Given the description of an element on the screen output the (x, y) to click on. 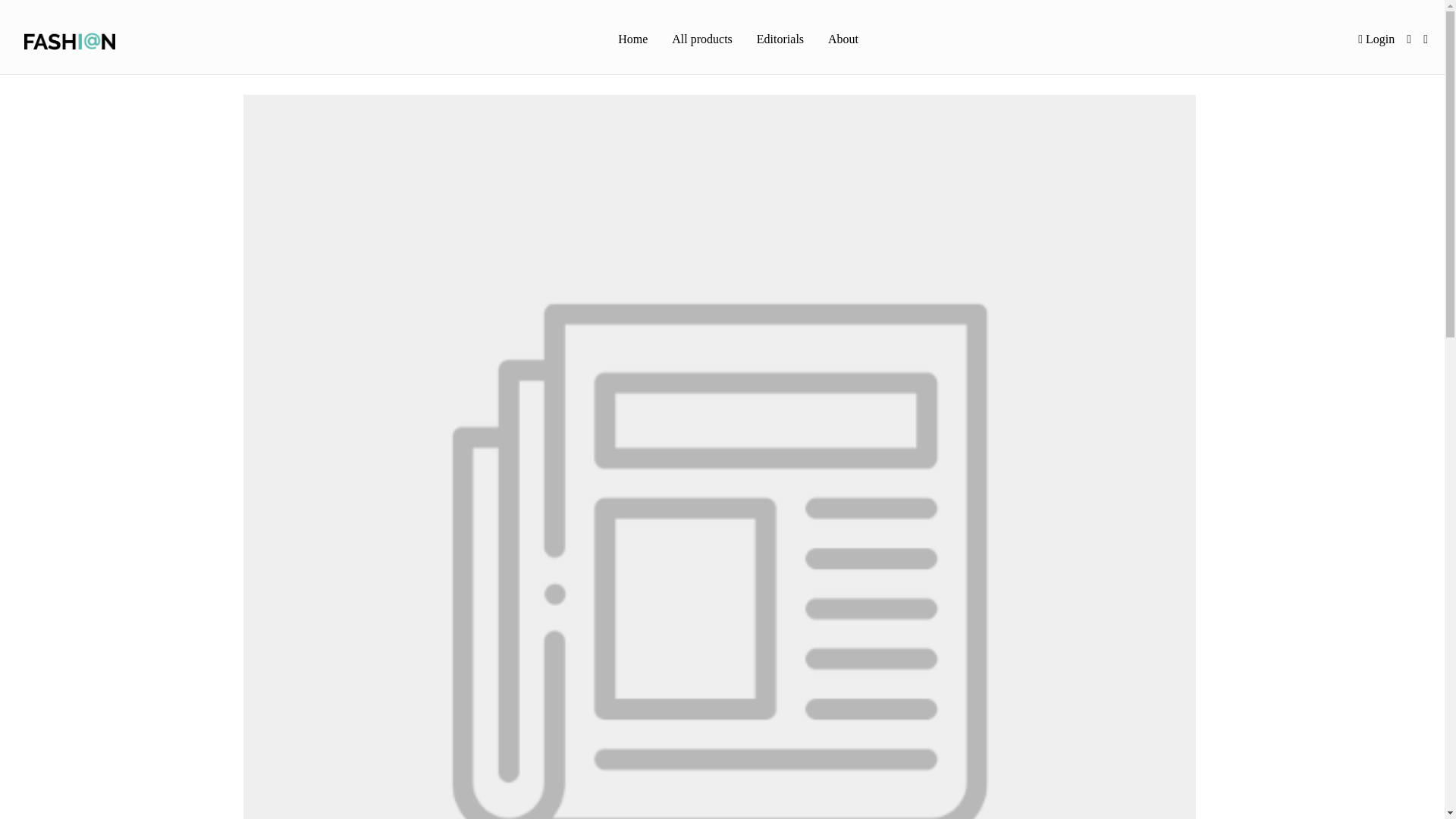
About (843, 40)
Home (632, 40)
All products (701, 40)
Login (1376, 39)
Editorials (780, 40)
